Given the description of an element on the screen output the (x, y) to click on. 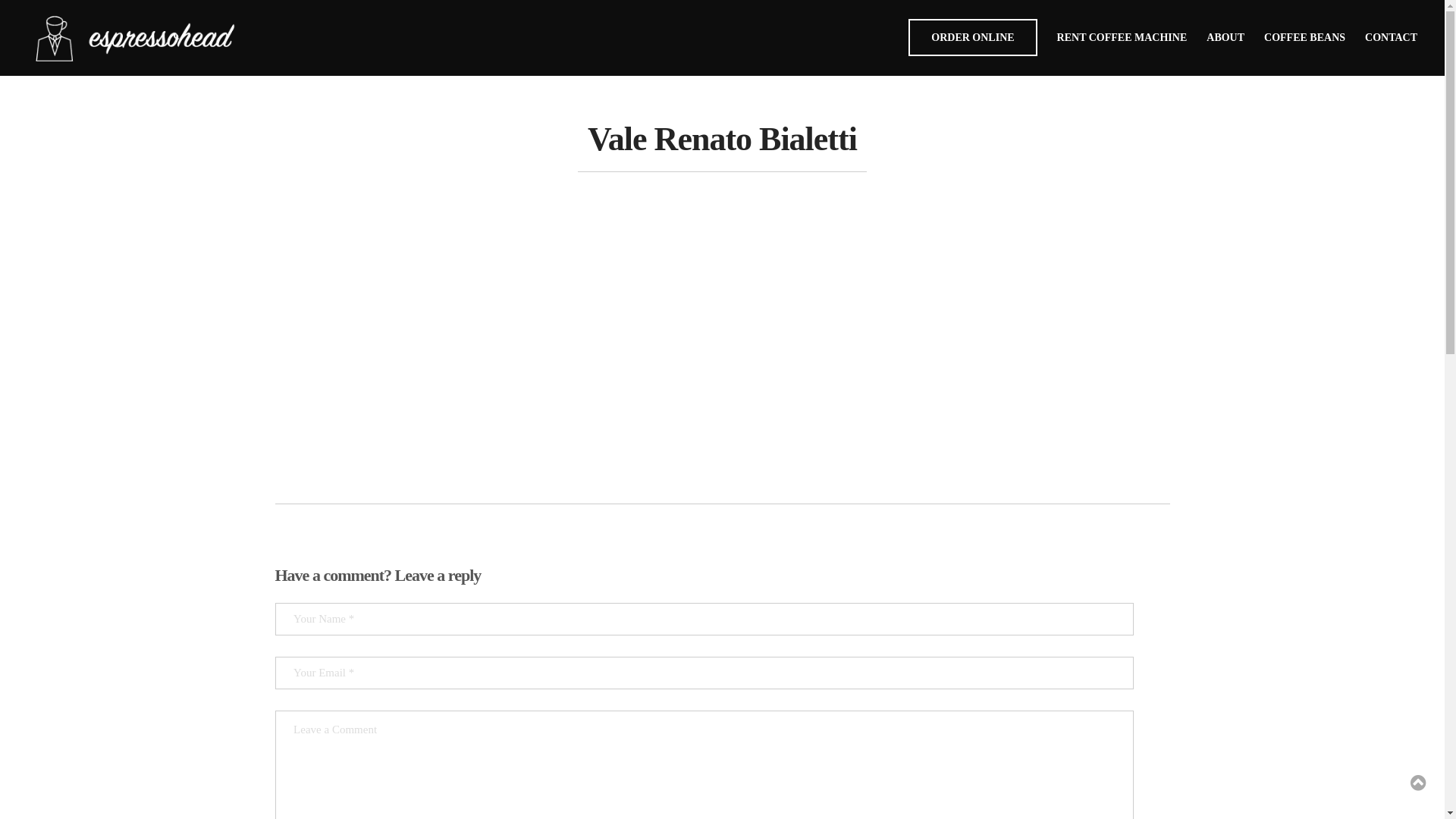
ORDER ONLINE Element type: text (972, 37)
ABOUT Element type: text (1225, 37)
COFFEE BEANS Element type: text (1304, 37)
Espressohead Element type: text (211, 37)
CONTACT Element type: text (1391, 37)
RENT COFFEE MACHINE Element type: text (1122, 37)
